Given the description of an element on the screen output the (x, y) to click on. 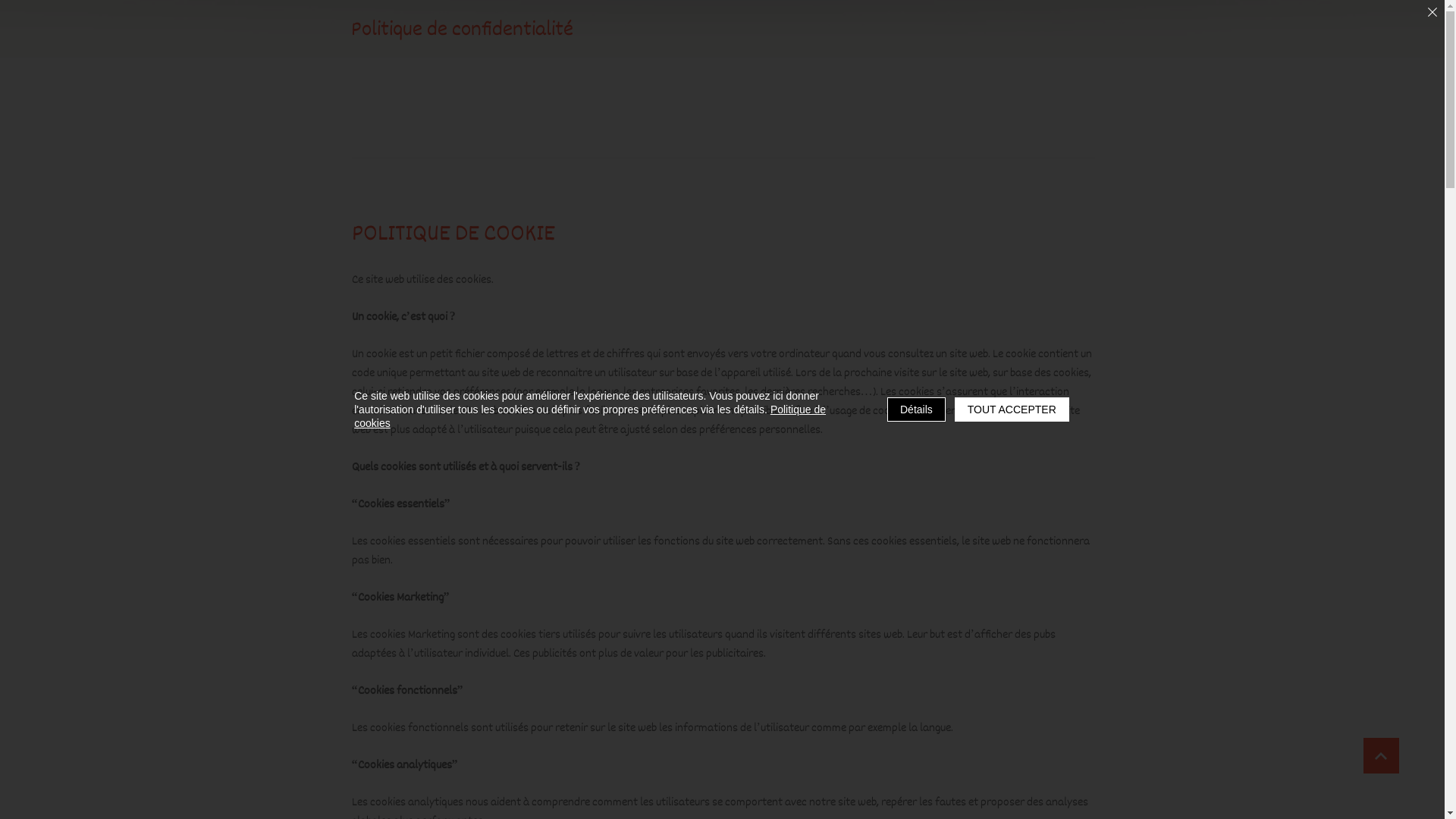
Politique de cookies Element type: text (589, 416)
TOUT ACCEPTER Element type: text (1011, 409)
